Given the description of an element on the screen output the (x, y) to click on. 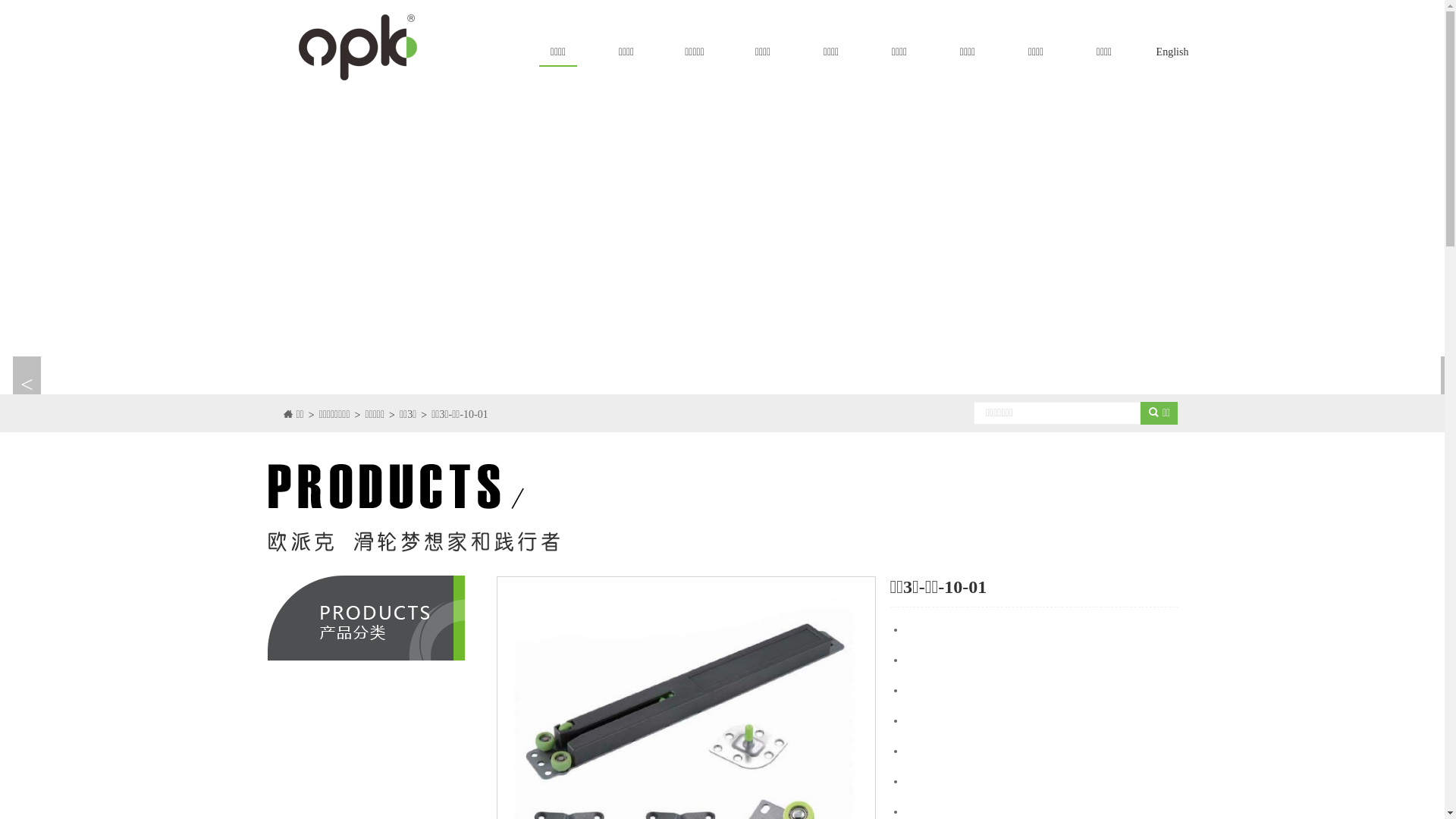
English Element type: text (1172, 52)
opike Element type: hover (374, 46)
